Given the description of an element on the screen output the (x, y) to click on. 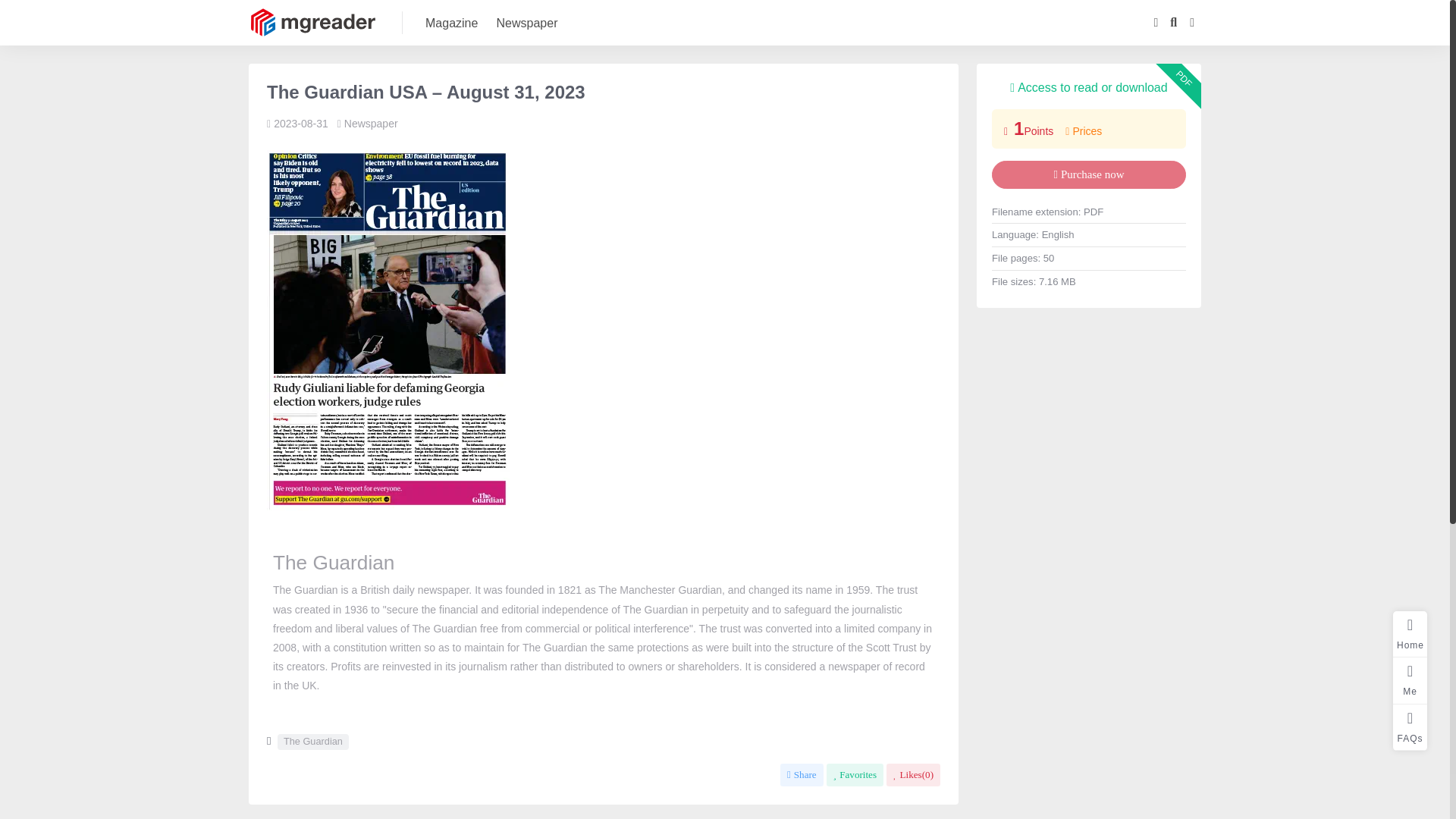
Newspaper (370, 123)
Purchase now (1088, 174)
Favorites (855, 774)
Newspaper (526, 22)
Share (802, 774)
The Guardian (313, 742)
Prices (1083, 131)
Magazine (451, 22)
